Given the description of an element on the screen output the (x, y) to click on. 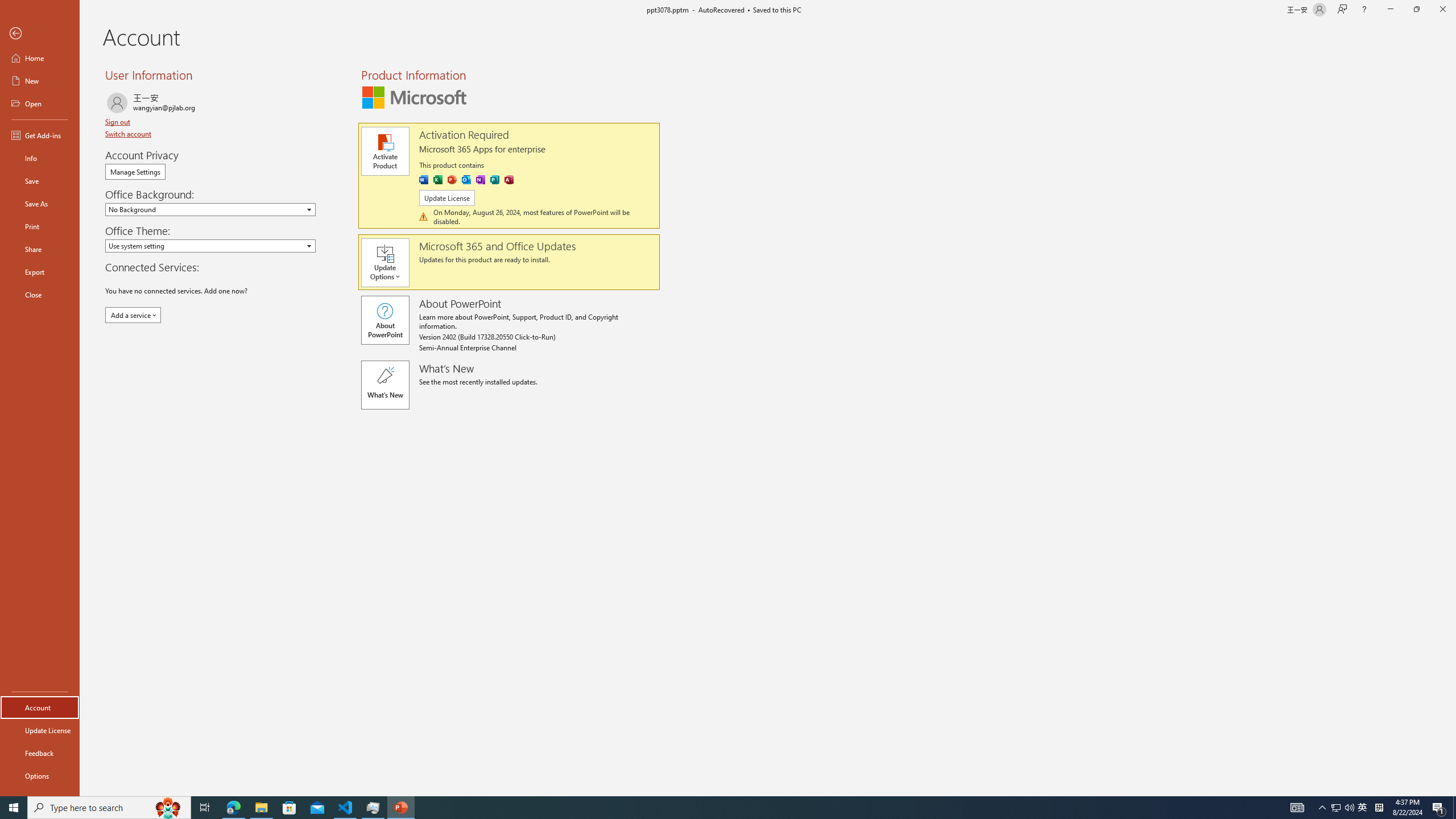
Class: MsoCommandBar (728, 773)
Character Shading (350, 102)
Spelling and Grammar Check Errors (119, 773)
Show/Hide Editing Marks (624, 77)
Grow Font (244, 77)
